Given the description of an element on the screen output the (x, y) to click on. 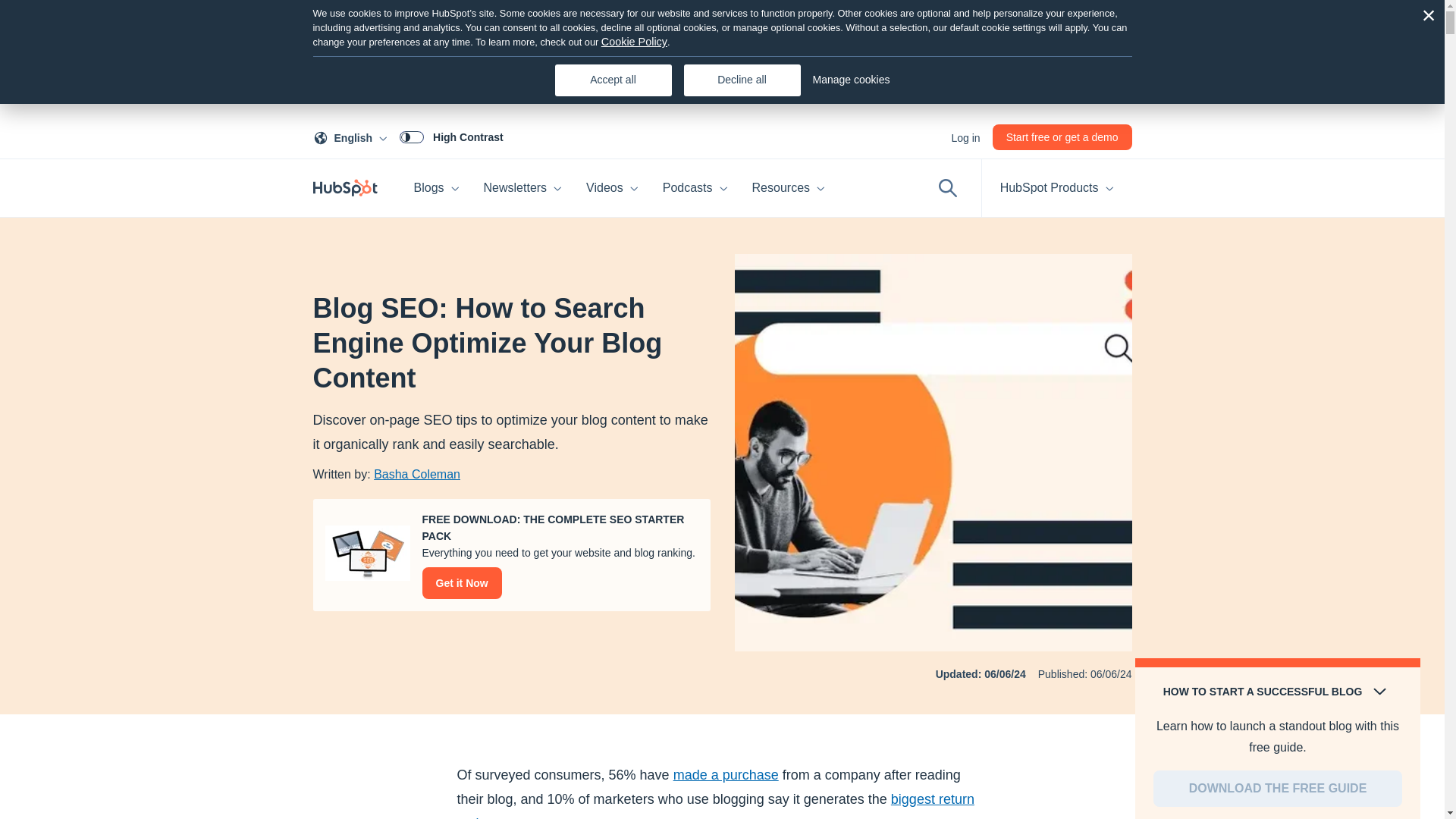
High Contrast (353, 136)
Start free or get a demo (450, 137)
Log in (1062, 136)
Newsletters (964, 137)
Blogs (523, 187)
